Given the description of an element on the screen output the (x, y) to click on. 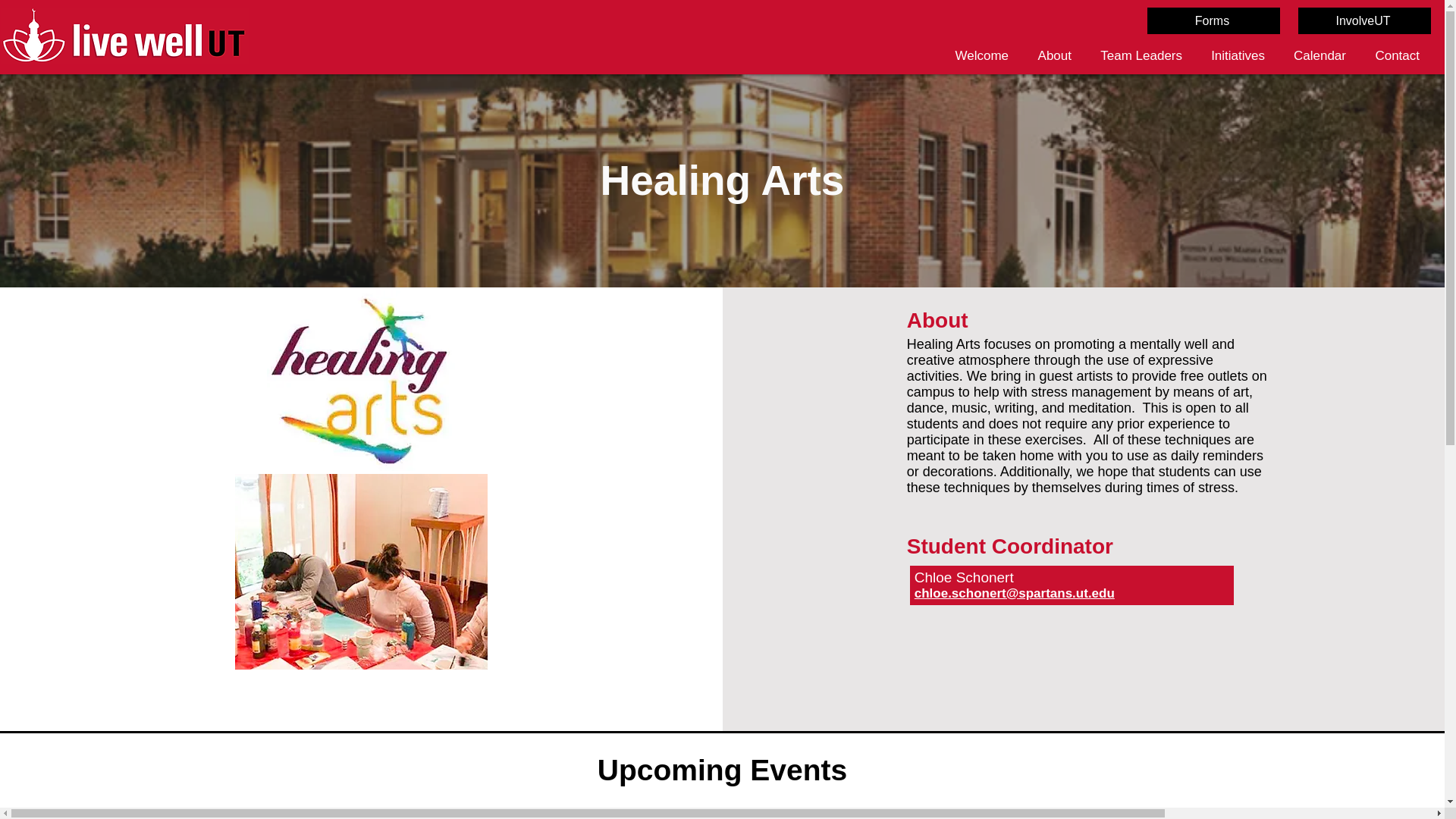
Welcome (978, 55)
Contact (1393, 55)
Team Leaders (1138, 55)
Calendar (1316, 55)
InvolveUT (1364, 20)
Initiatives (1234, 55)
About (1051, 55)
Forms (1213, 20)
